Given the description of an element on the screen output the (x, y) to click on. 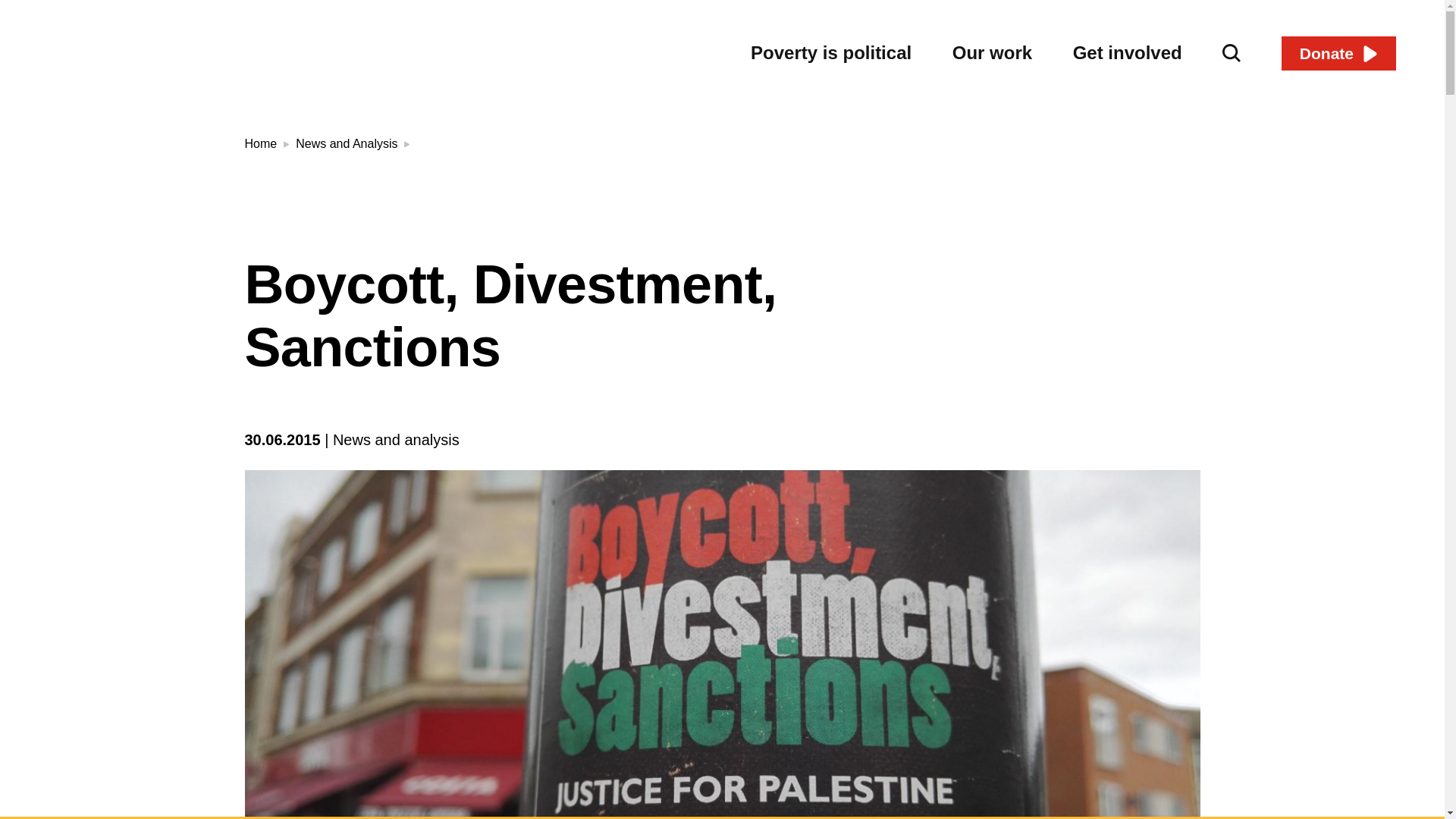
Our work (992, 53)
Poverty is political (831, 53)
